Given the description of an element on the screen output the (x, y) to click on. 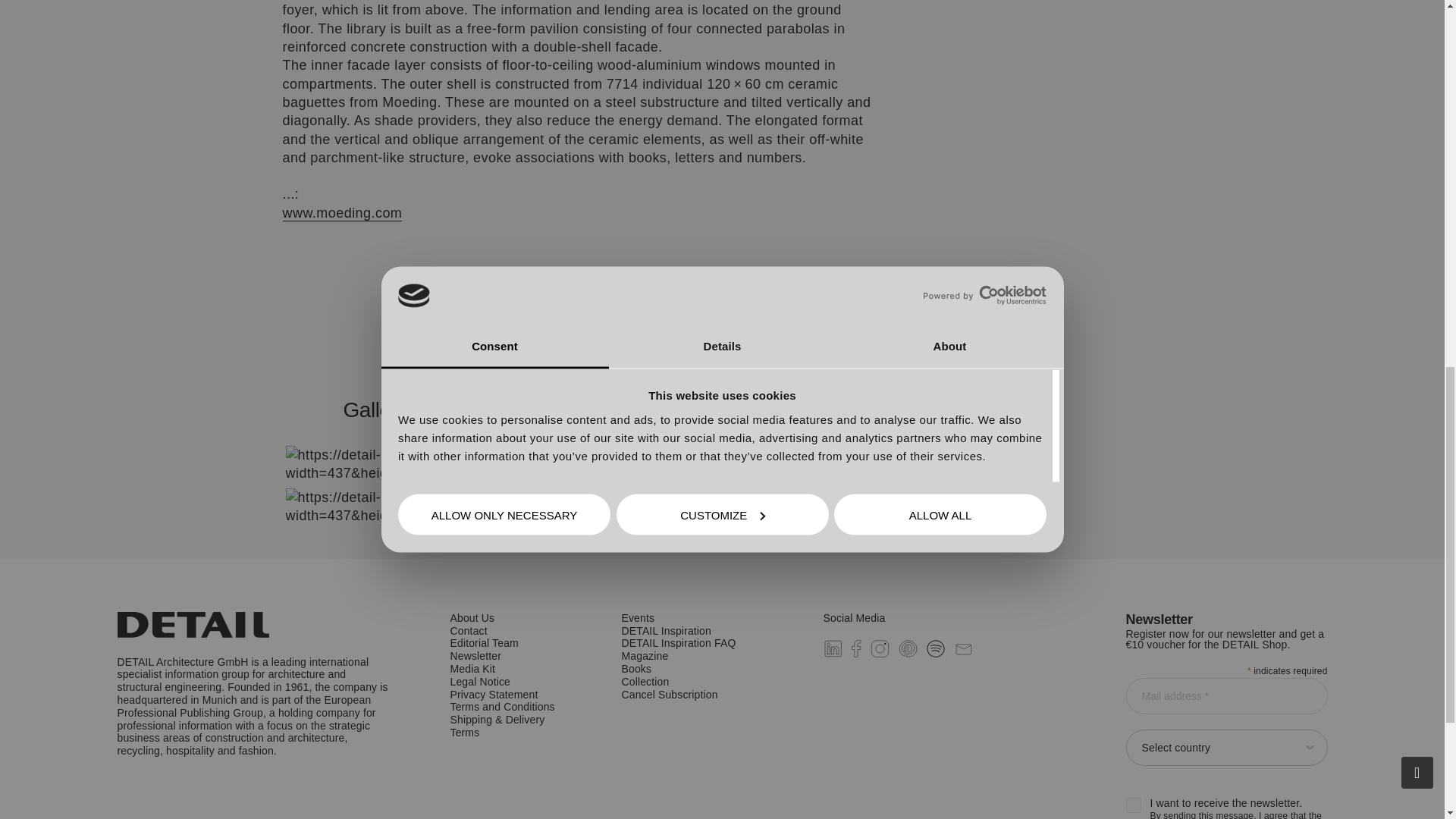
on (1132, 805)
